Given the description of an element on the screen output the (x, y) to click on. 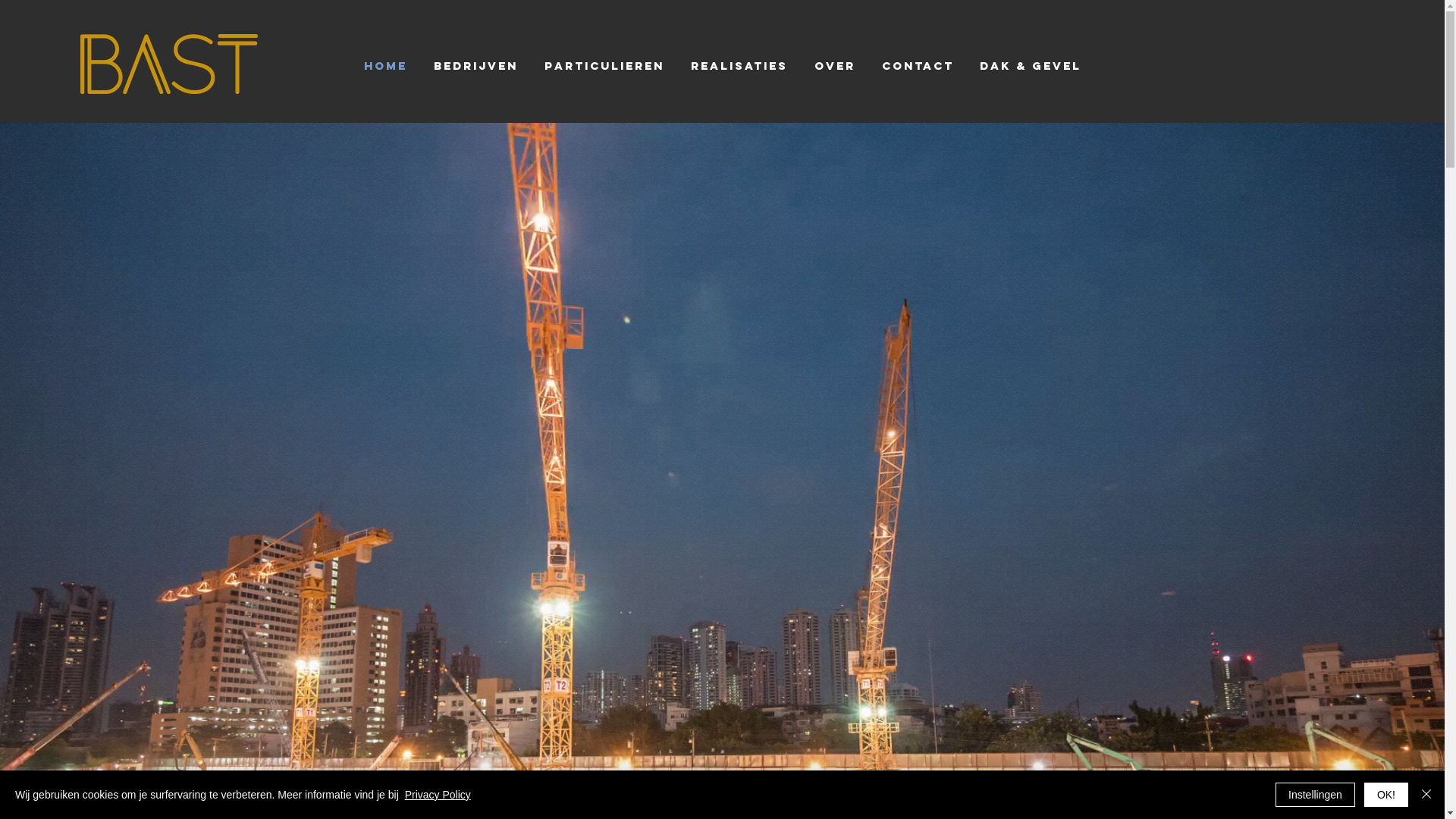
CONTACT Element type: text (917, 65)
Instellingen Element type: text (1315, 794)
DAK & GEVEL Element type: text (1029, 65)
OK! Element type: text (1386, 794)
REALISATIES Element type: text (739, 65)
Privacy Policy Element type: text (437, 794)
OVER Element type: text (834, 65)
BEDRIJVEN Element type: text (475, 65)
PARTICULIEREN Element type: text (603, 65)
HOME Element type: text (385, 65)
